Given the description of an element on the screen output the (x, y) to click on. 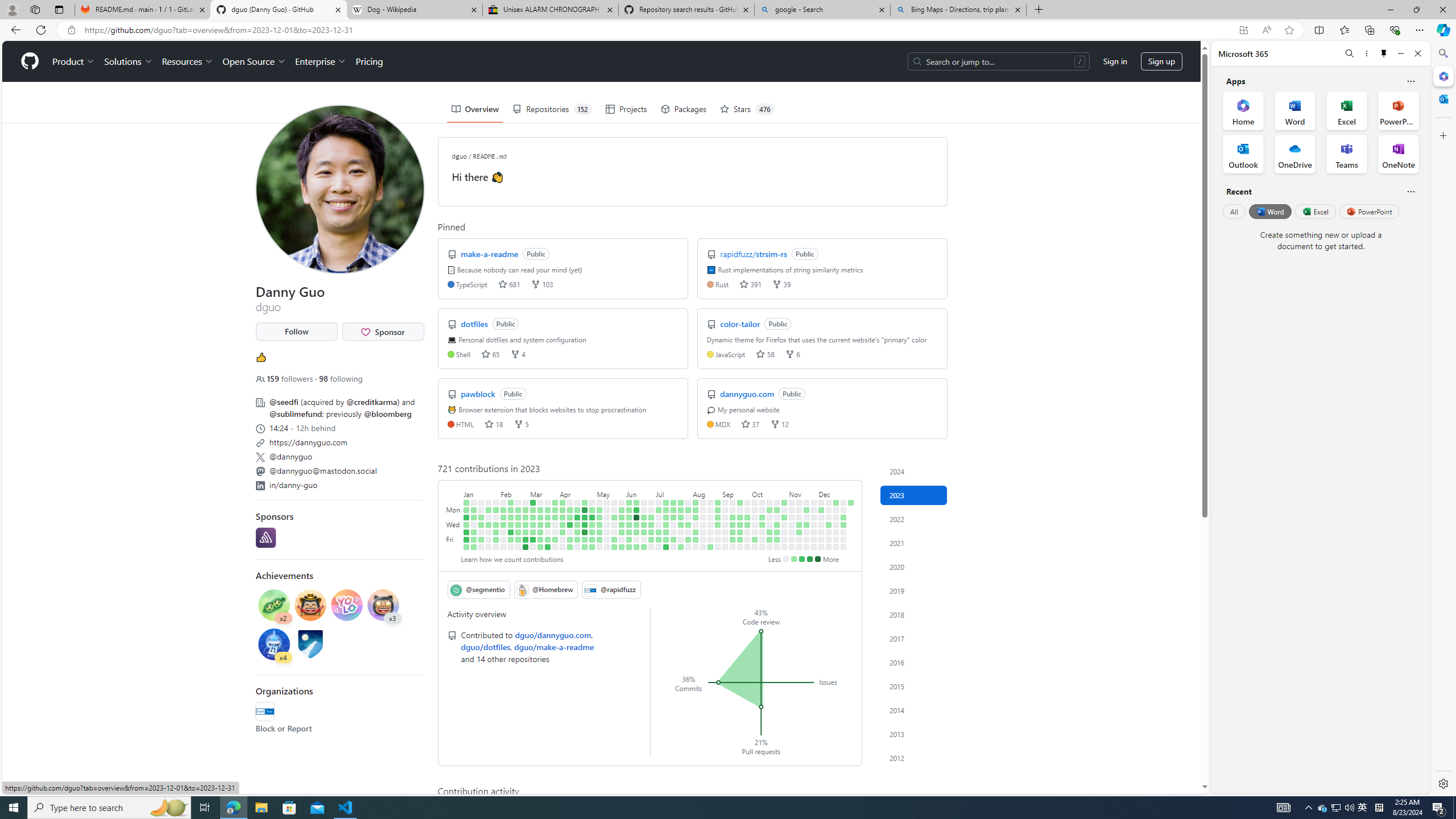
Excel Office App (1346, 110)
4 contributions on July 14th. (665, 539)
Sunday (454, 502)
Overview (474, 108)
Achievement: Arctic Code Vault Contributor (310, 645)
5 contributions on March 18th. (540, 546)
No contributions on August 17th. (703, 531)
No contributions on May 14th. (607, 502)
No contributions on December 30th. (843, 546)
1 contribution on June 29th. (651, 531)
Excel (1315, 210)
2 contributions on February 12th. (510, 502)
Achievements (283, 575)
